Given the description of an element on the screen output the (x, y) to click on. 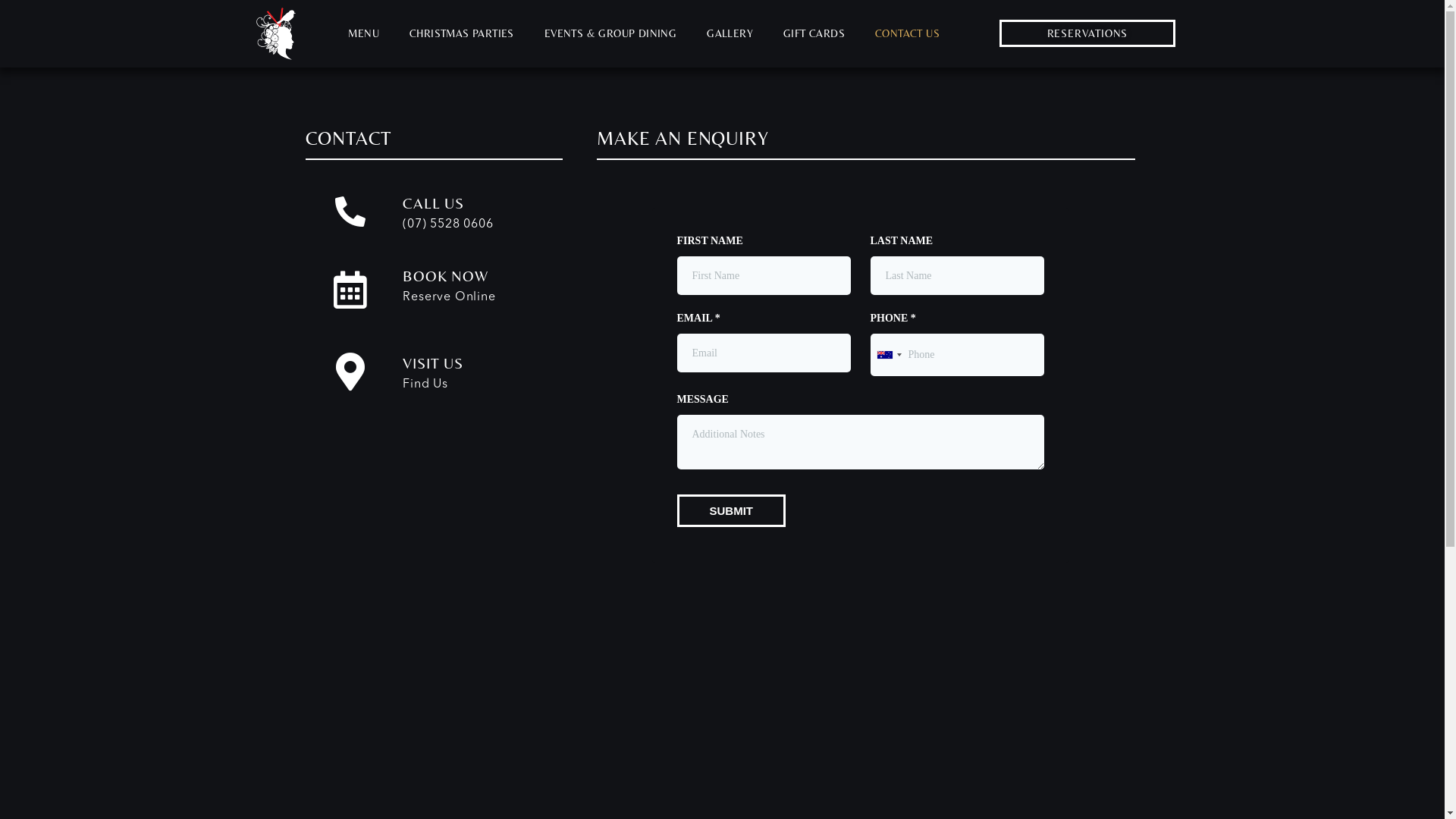
Reserve Online Element type: text (448, 297)
EVENTS & GROUP DINING Element type: text (610, 32)
RESERVATIONS Element type: text (1087, 33)
(07) 5528 0606 Element type: text (447, 224)
CHRISTMAS PARTIES Element type: text (461, 32)
Find Us Element type: text (425, 384)
GIFT CARDS Element type: text (813, 32)
VISIT US Element type: text (432, 362)
CONTACT US Element type: text (906, 32)
BOOK NOW Element type: text (444, 275)
MENU Element type: text (363, 32)
GALLERY Element type: text (729, 32)
